Given the description of an element on the screen output the (x, y) to click on. 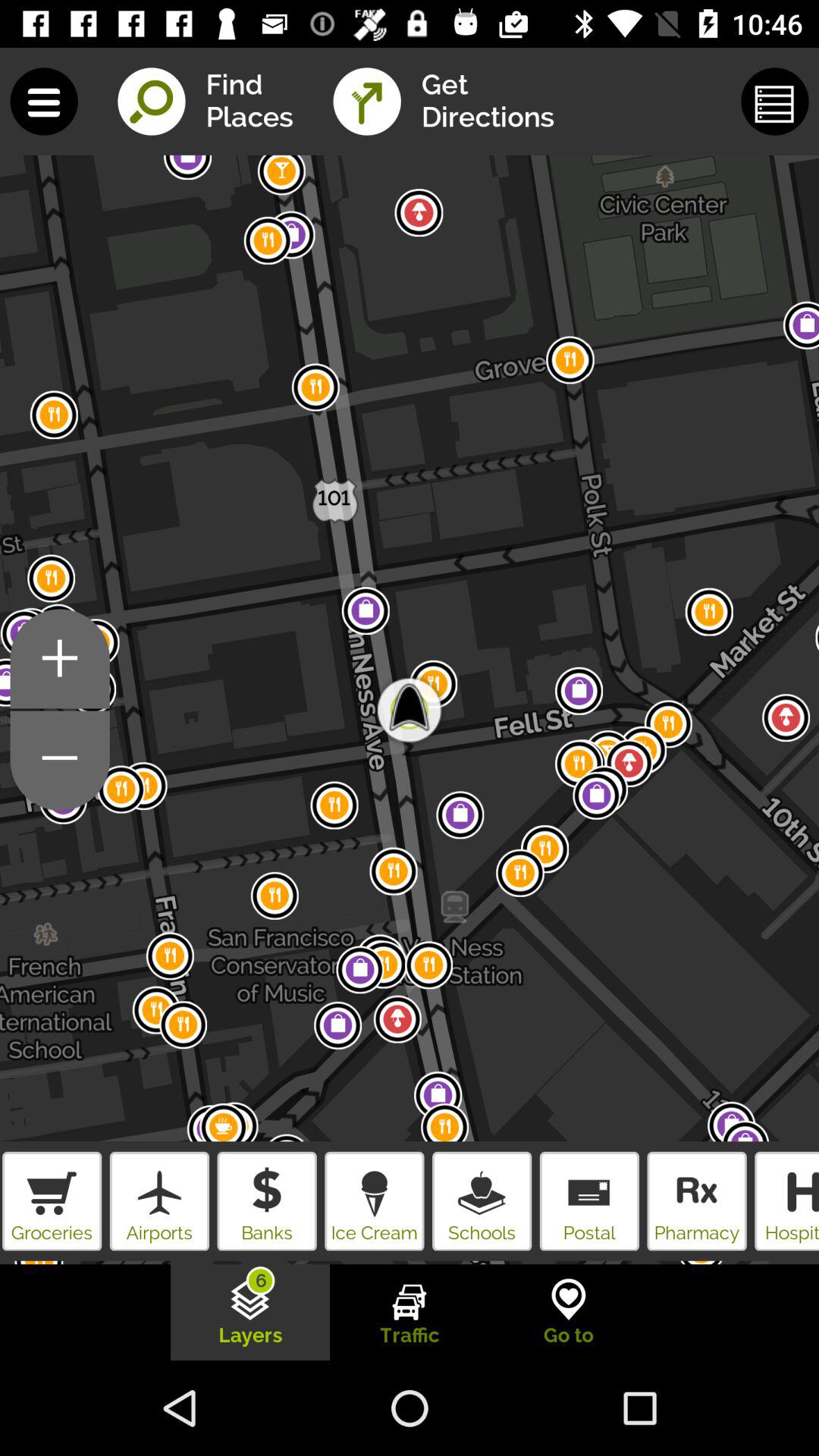
go to bottom right side icecream logo (481, 1200)
click on the button beside get directions (775, 100)
click the button on the top left corner of the web page (43, 100)
click  botton (59, 760)
